Given the description of an element on the screen output the (x, y) to click on. 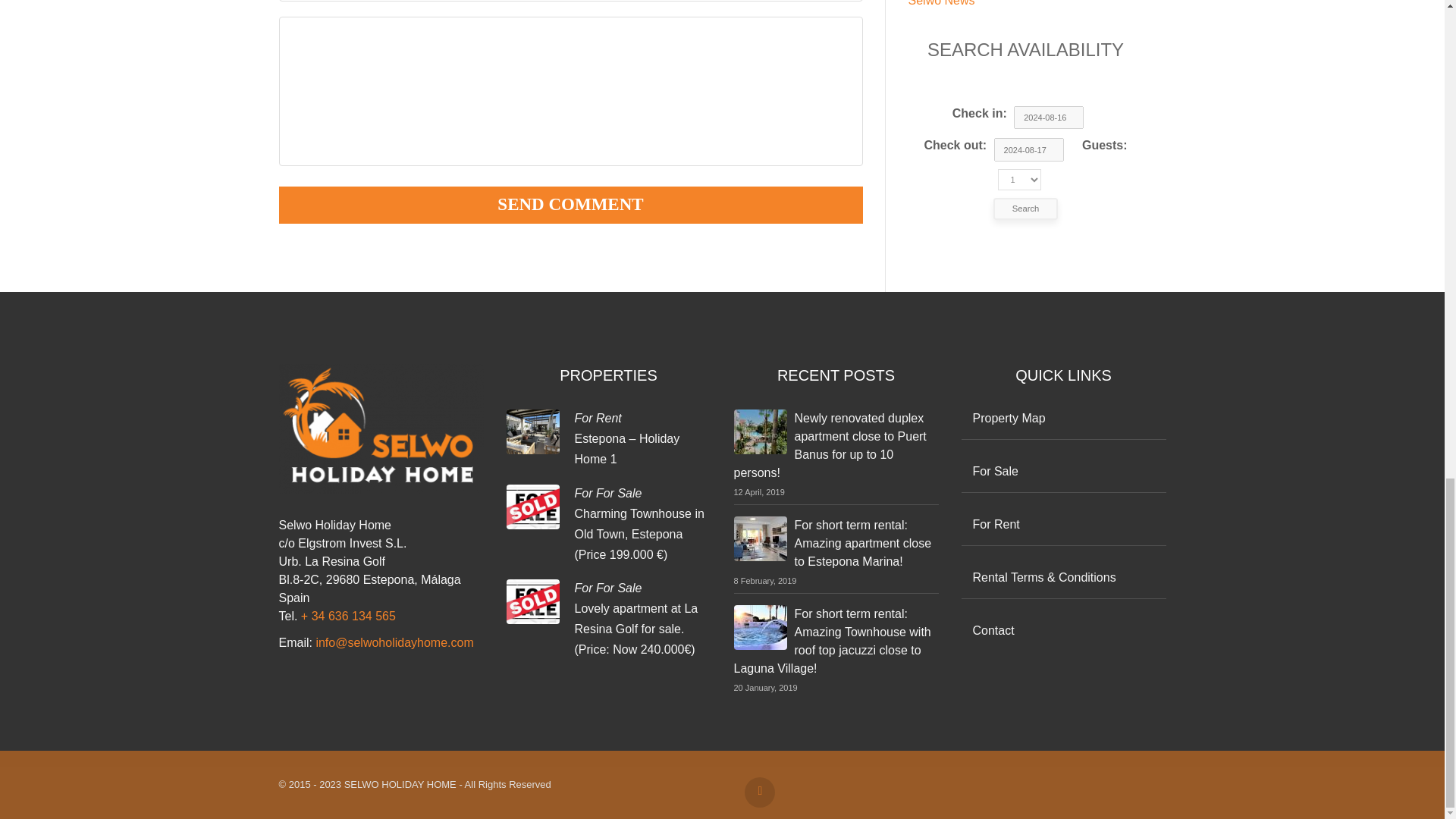
Send Comment (571, 204)
For For Sale (608, 587)
For For Sale (608, 492)
Send Comment (571, 204)
For Rent (598, 418)
